Given the description of an element on the screen output the (x, y) to click on. 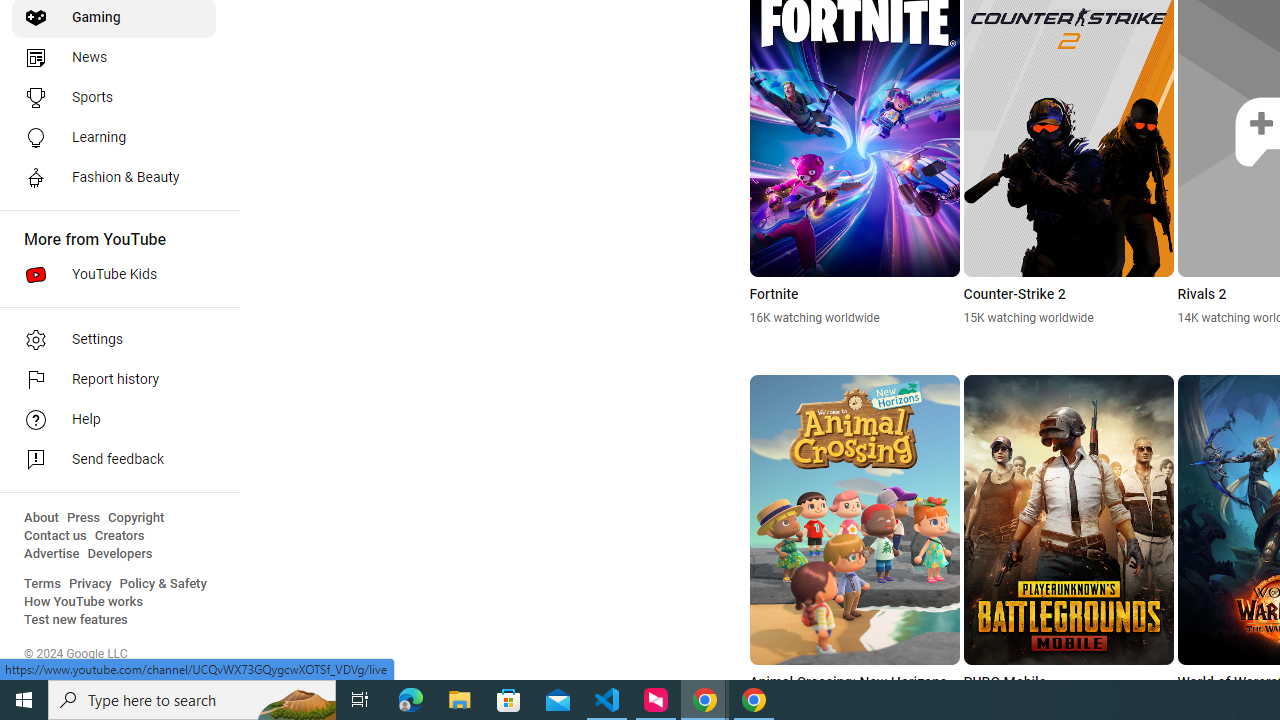
Copyright (136, 518)
Report history (113, 380)
Test new features (76, 620)
How YouTube works (83, 602)
YouTube Kids (113, 274)
Animal Crossing: New Horizons 8.7K watching worldwide (854, 544)
Fashion & Beauty (113, 177)
News (113, 57)
About (41, 518)
Developers (120, 554)
PUBG Mobile 8.2K watching worldwide (1067, 544)
Learning (113, 137)
Advertise (51, 554)
